Given the description of an element on the screen output the (x, y) to click on. 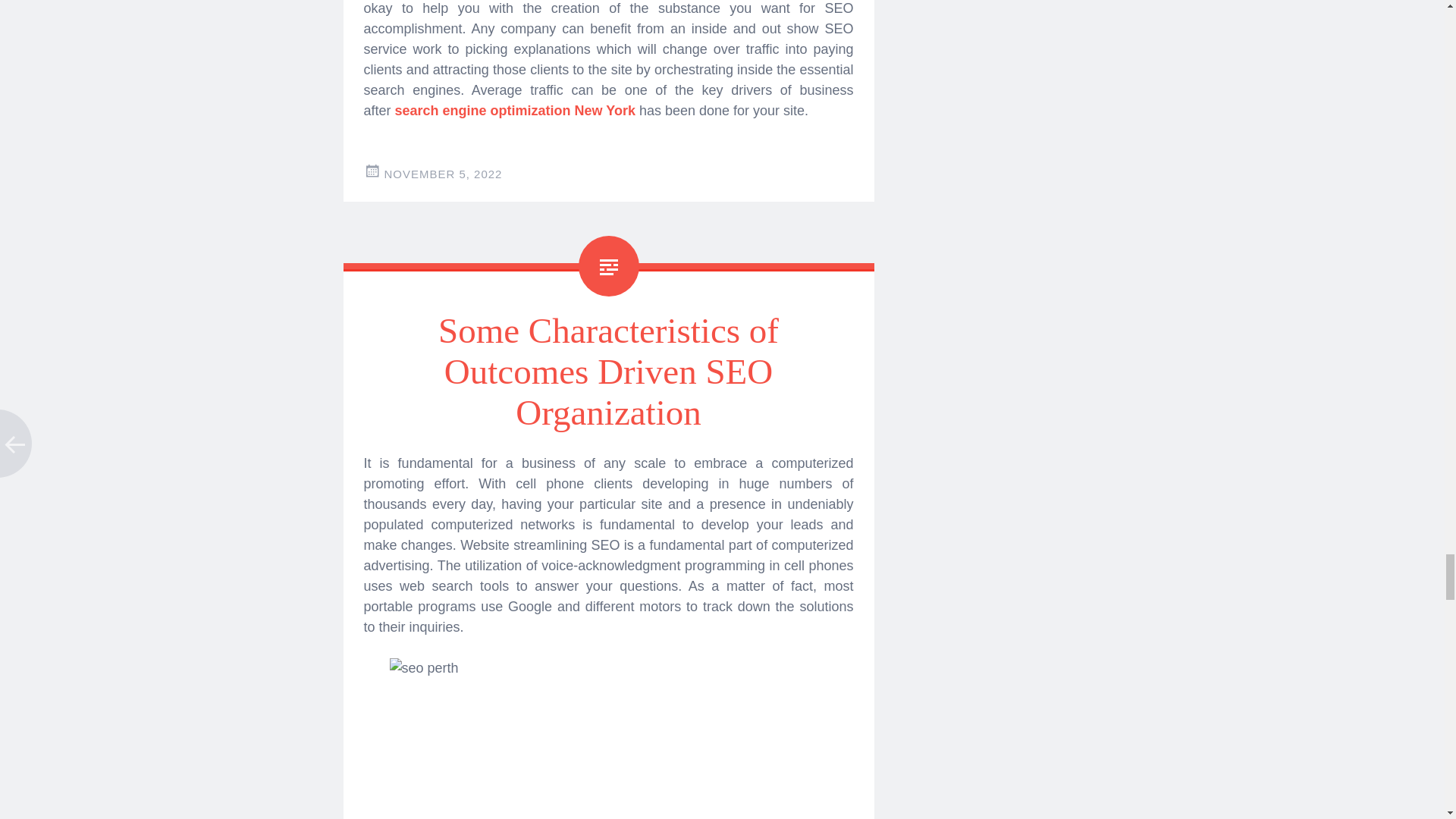
7:10 am (443, 173)
